Given the description of an element on the screen output the (x, y) to click on. 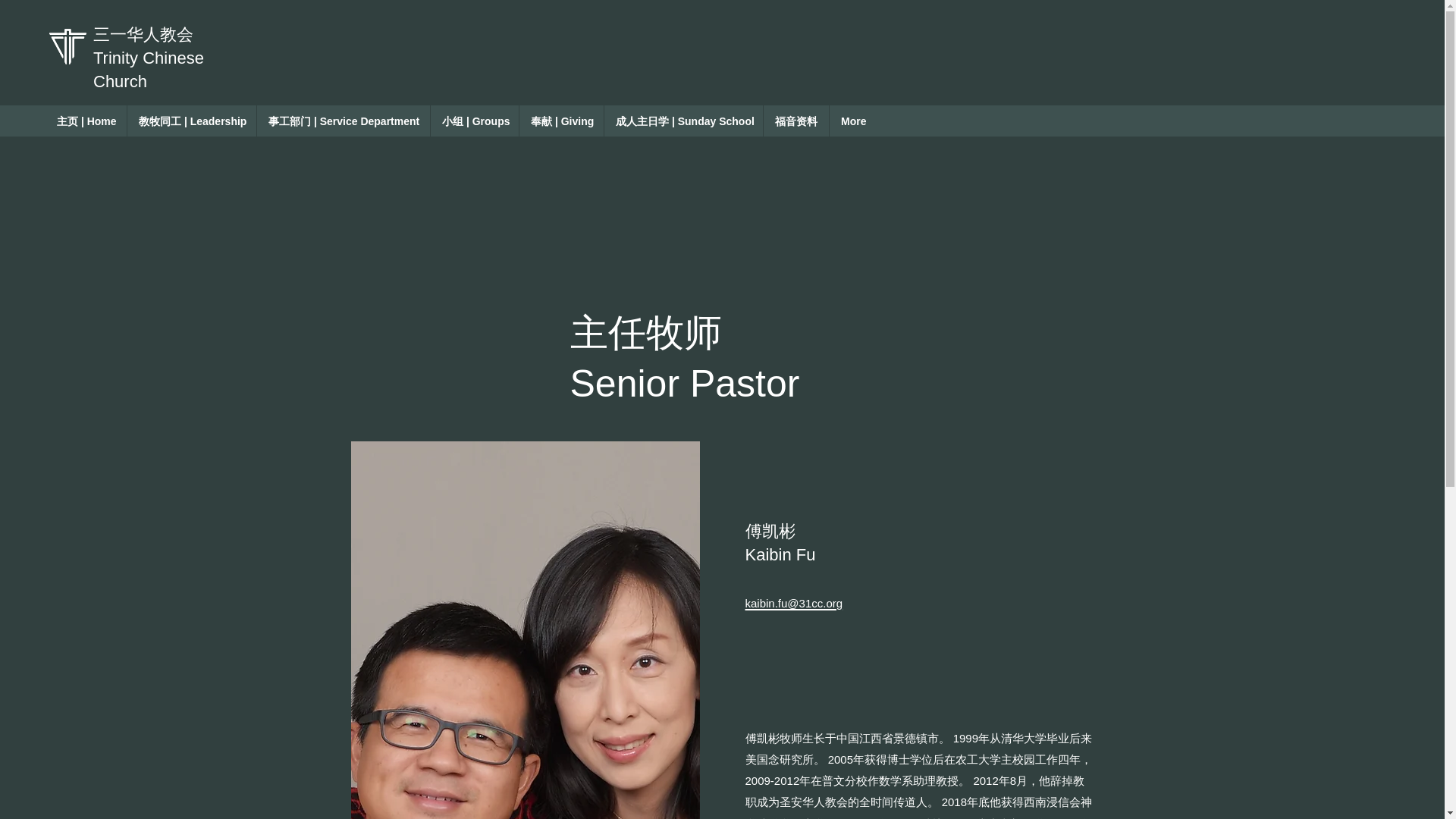
Trinity Chinese Church (148, 69)
